Given the description of an element on the screen output the (x, y) to click on. 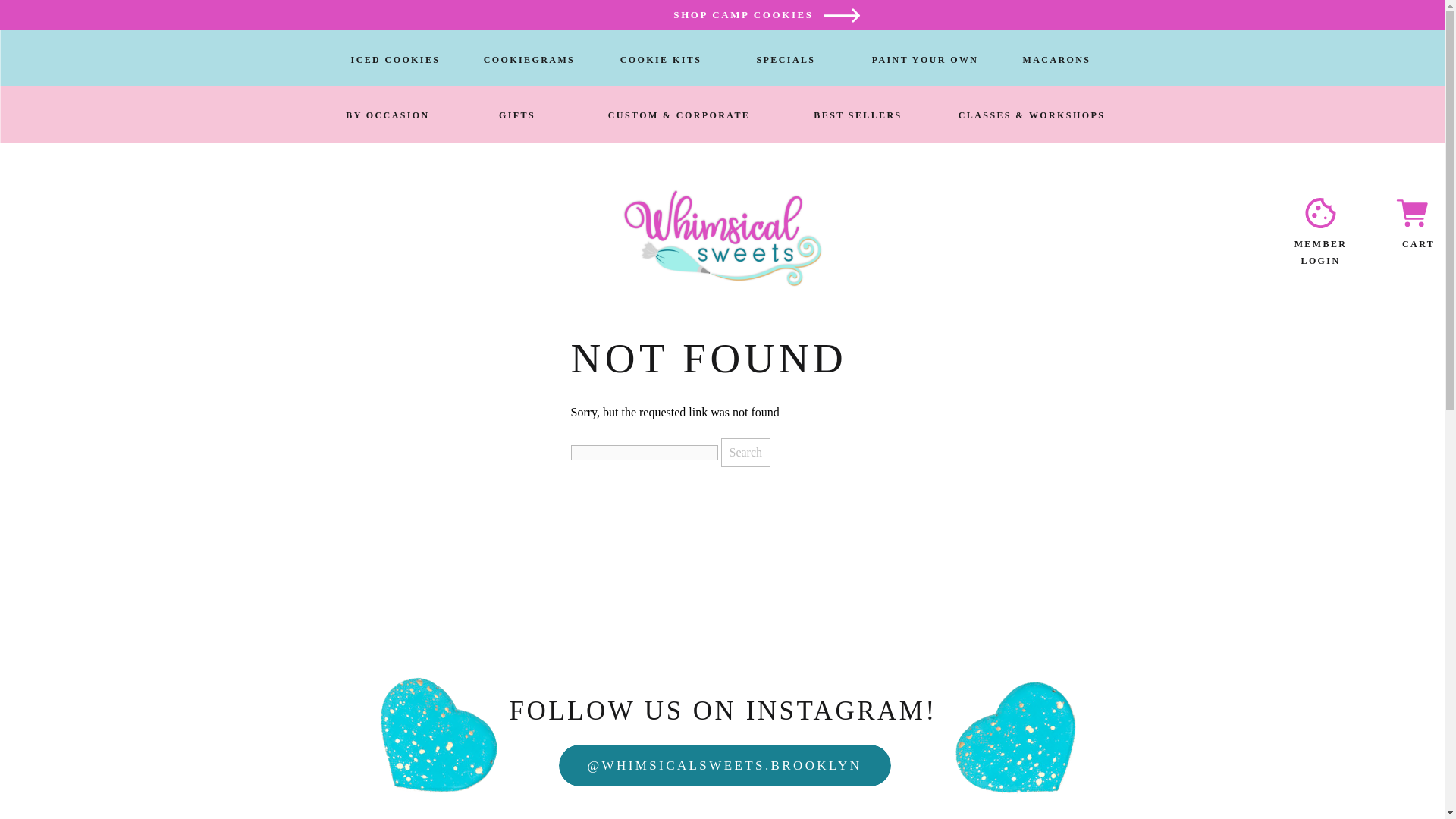
MACARONS (1056, 58)
Search (745, 452)
CART (1415, 243)
COOKIEGRAMS (529, 58)
SPECIALS (785, 58)
PAINT YOUR OWN (925, 58)
COOKIE KITS (661, 58)
MEMBER LOGIN (1320, 243)
ICED COOKIES (394, 58)
GIFTS (517, 113)
BY OCCASION (386, 113)
BEST SELLERS (858, 113)
